Given the description of an element on the screen output the (x, y) to click on. 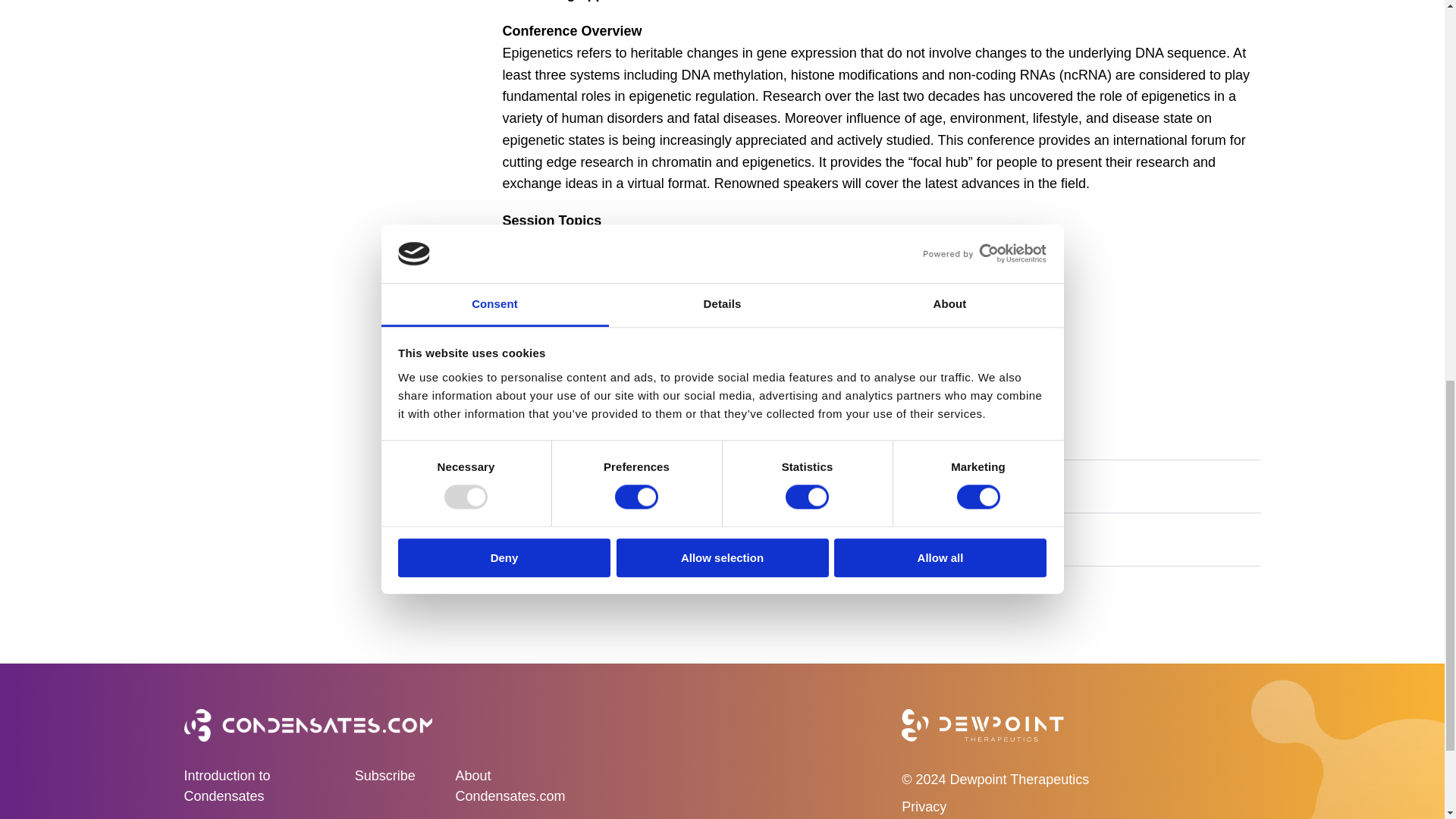
Add to Google Calendar (565, 419)
Download .ics file (694, 419)
